Given the description of an element on the screen output the (x, y) to click on. 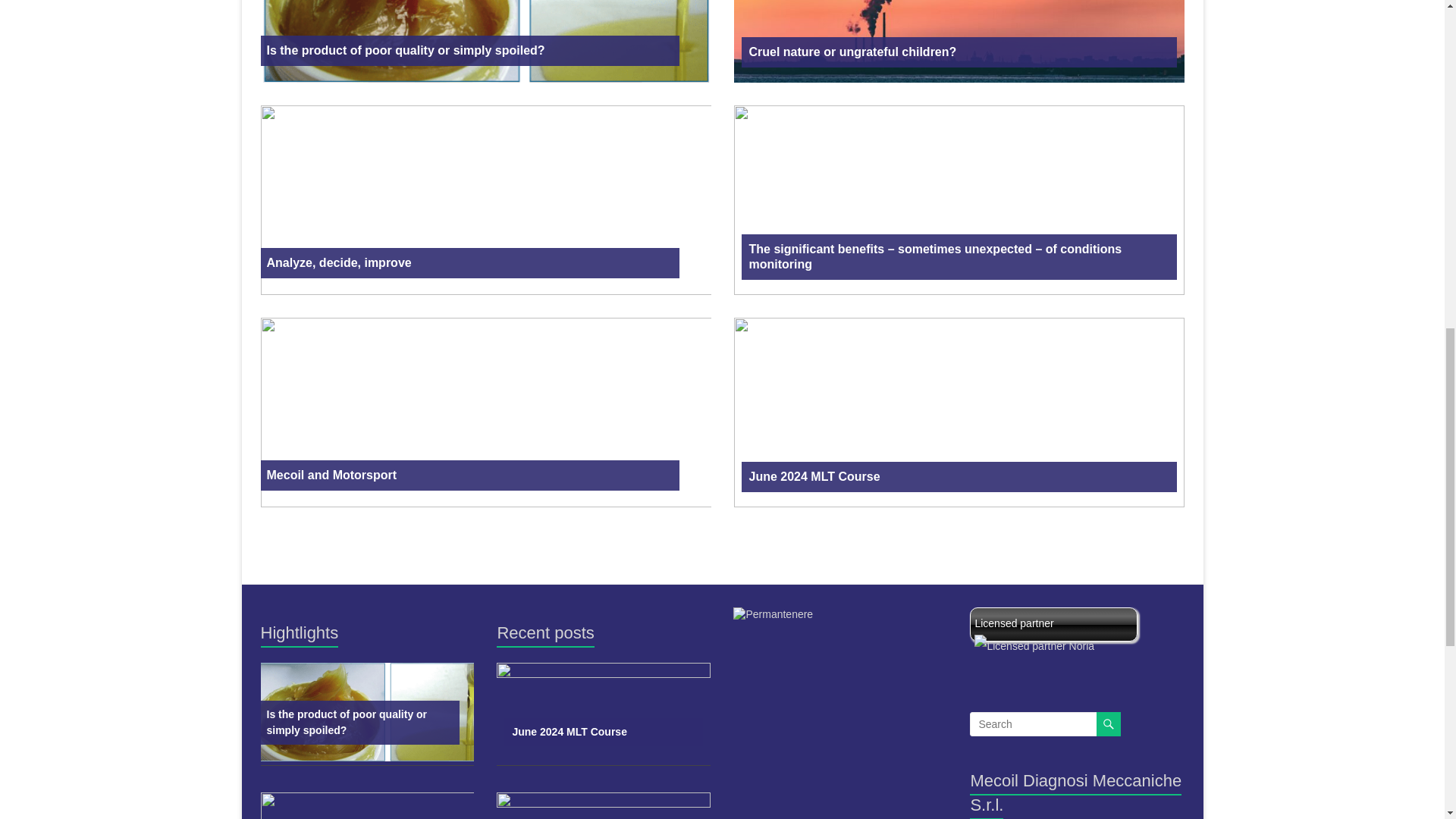
Cruel nature or ungrateful children? (959, 41)
Is the product of poor quality or simply spoiled? (469, 51)
June 2024 MLT Course (959, 411)
Mecoil and Motorsport (469, 475)
Analyze, decide, improve (469, 263)
Is the product of poor quality or simply spoiled? (360, 722)
